Given the description of an element on the screen output the (x, y) to click on. 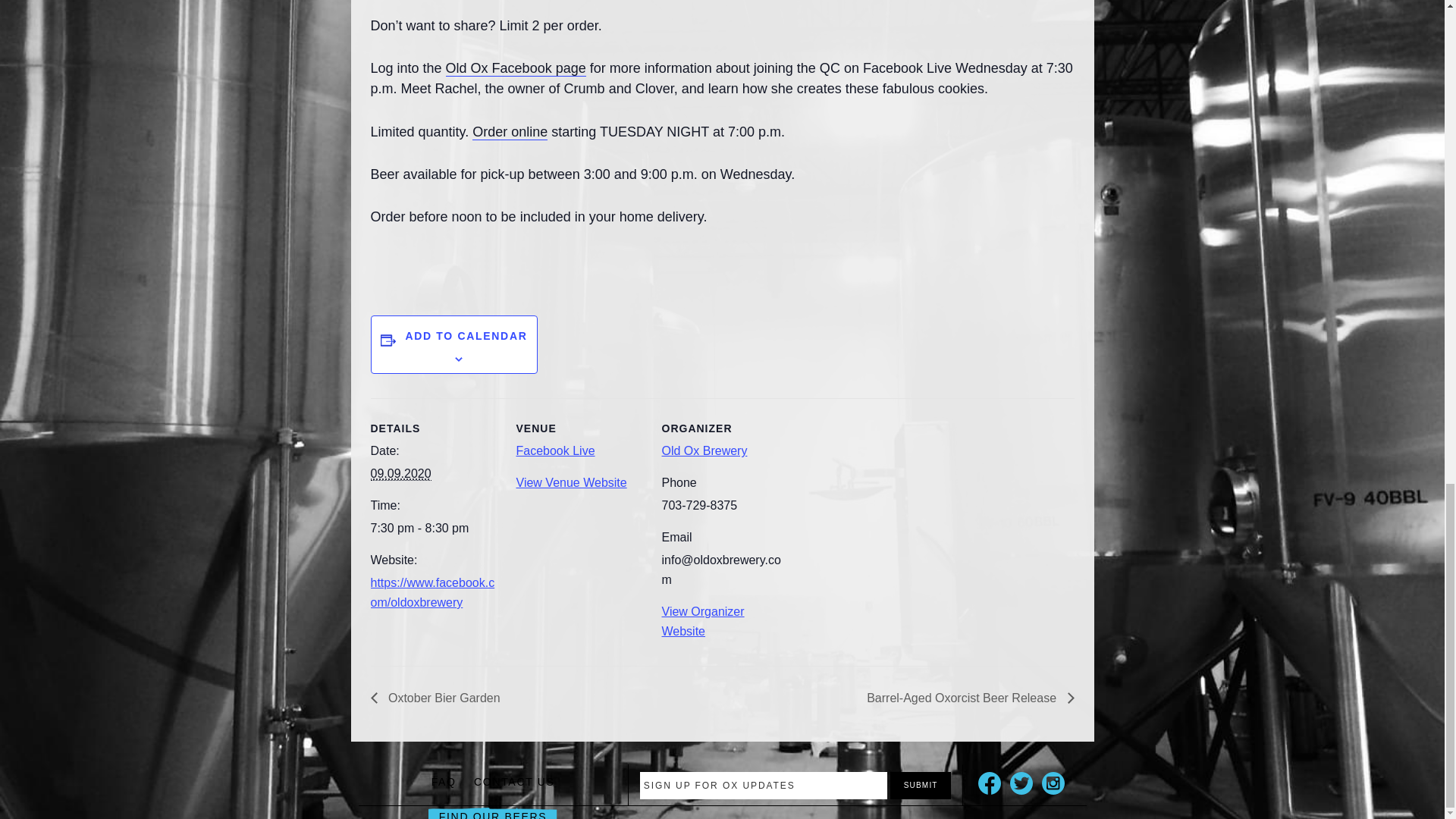
Old Ox Brewery (703, 450)
Old Ox Brewery (703, 450)
INSTAGRAM (1053, 783)
Facebook Live (554, 450)
ADD TO CALENDAR (465, 335)
View Organizer Website (702, 621)
Submit (919, 785)
Old Ox Facebook page (515, 68)
TWITTER (1021, 783)
2020-09-09 (433, 528)
